Given the description of an element on the screen output the (x, y) to click on. 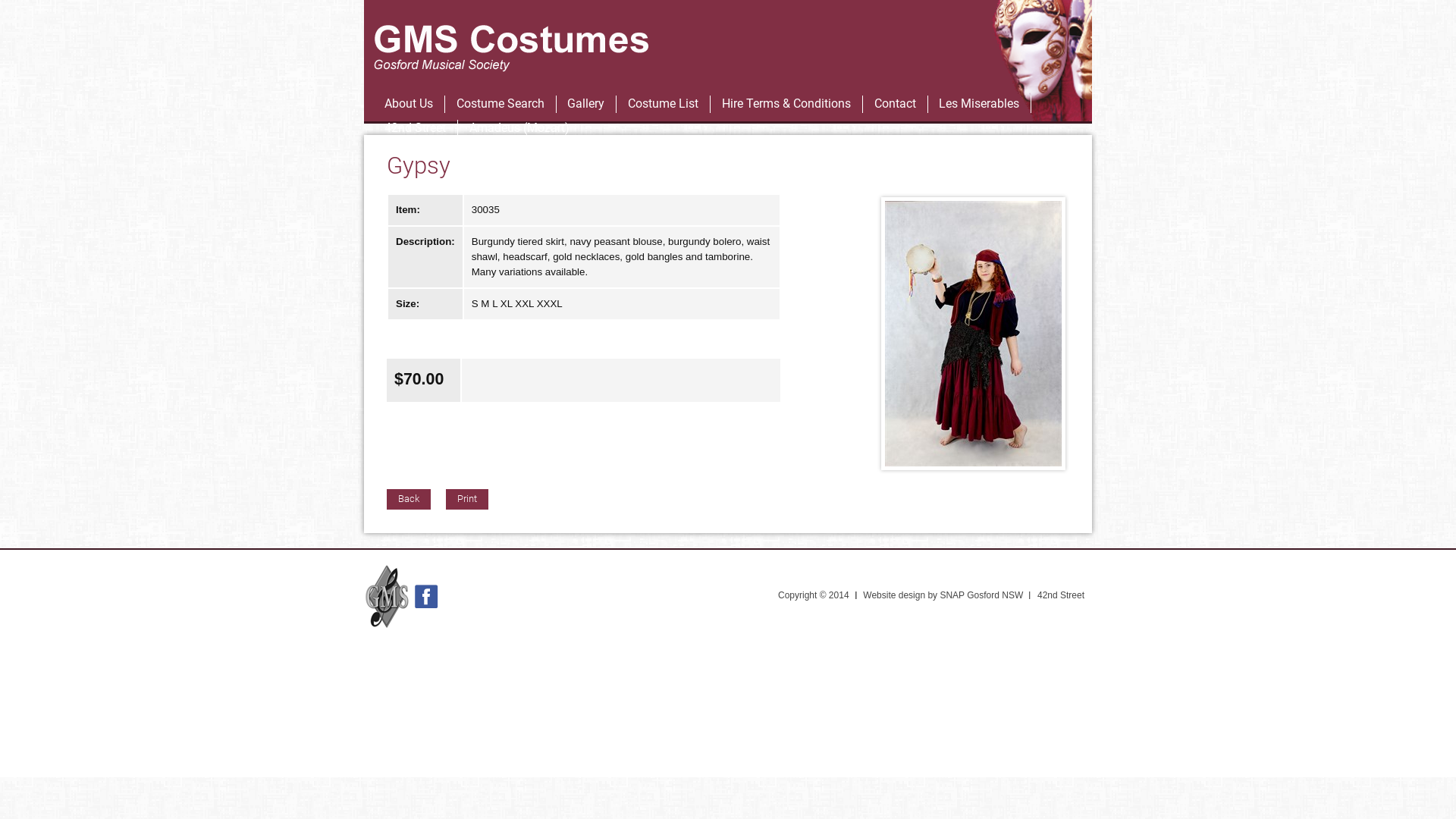
Les Miserables Element type: text (696, 74)
Gypsy Element type: hover (973, 333)
42nd Street Element type: text (756, 74)
Back Element type: text (408, 499)
42nd Street Element type: text (414, 128)
Website design by SNAP Gosford NSW Element type: text (944, 594)
Hire Terms & Conditions Element type: text (785, 103)
42nd Street Element type: text (1062, 594)
Home - LOGO Element type: hover (510, 43)
Print Element type: text (466, 499)
Facebook Element type: hover (426, 596)
Costume List Element type: text (662, 103)
Costume Search Element type: text (500, 103)
Amadeus (Mozart) Element type: text (519, 128)
About Us Element type: text (408, 103)
GMS Element type: hover (387, 596)
Les Miserables Element type: text (978, 103)
Gallery Element type: text (585, 103)
Contact Element type: text (895, 103)
42nd Street Element type: text (468, 626)
